Given the description of an element on the screen output the (x, y) to click on. 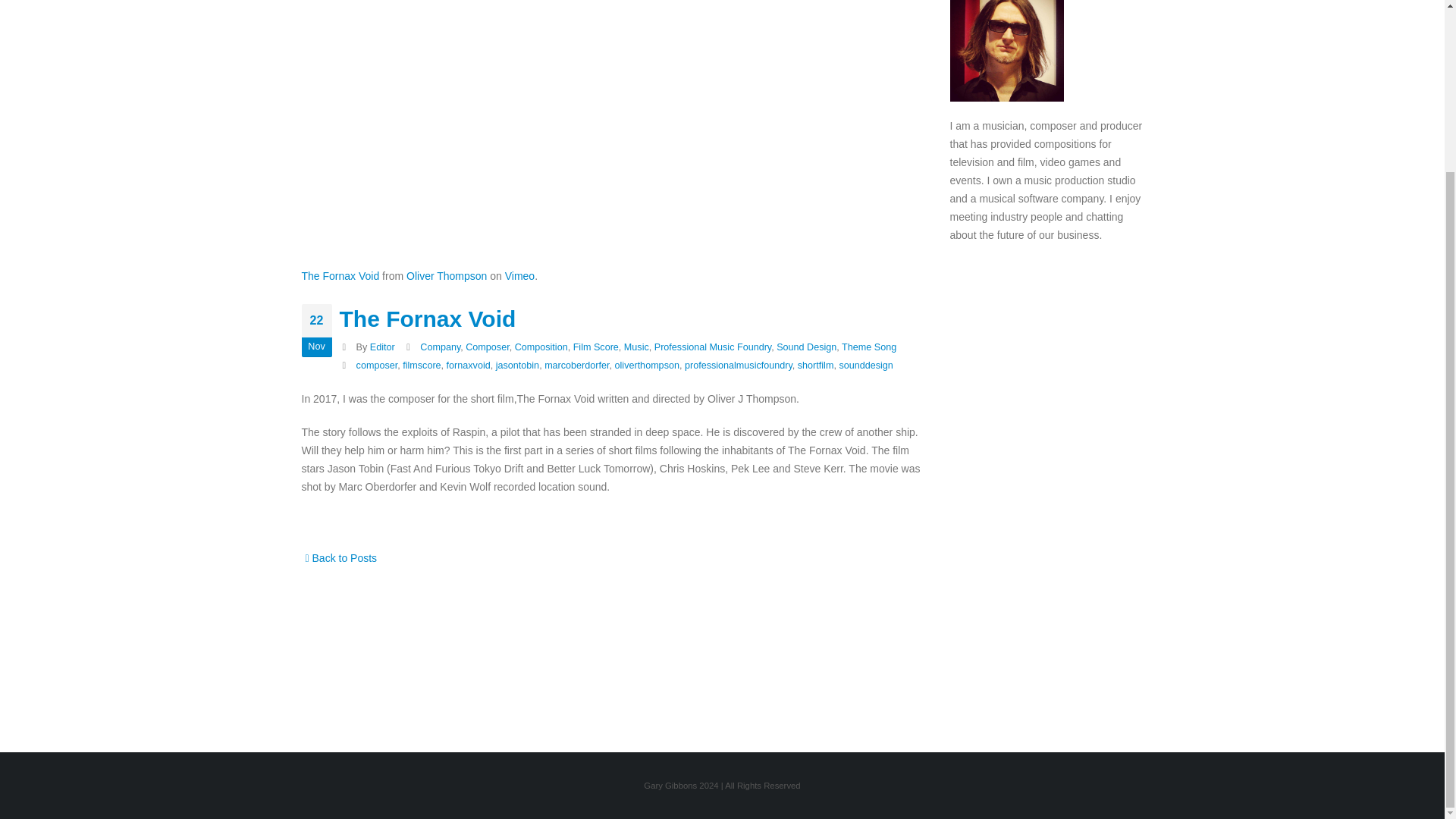
Advertisement (1045, 493)
Theme Song (868, 347)
The Fornax Void (340, 275)
filmscore (422, 365)
marcoberdorfer (576, 365)
fornaxvoid (468, 365)
Music (636, 347)
Vimeo (519, 275)
Posts by Editor (381, 347)
shortfilm (815, 365)
Oliver Thompson (446, 275)
professionalmusicfoundry (738, 365)
Composer (486, 347)
composer (376, 365)
Editor (381, 347)
